Given the description of an element on the screen output the (x, y) to click on. 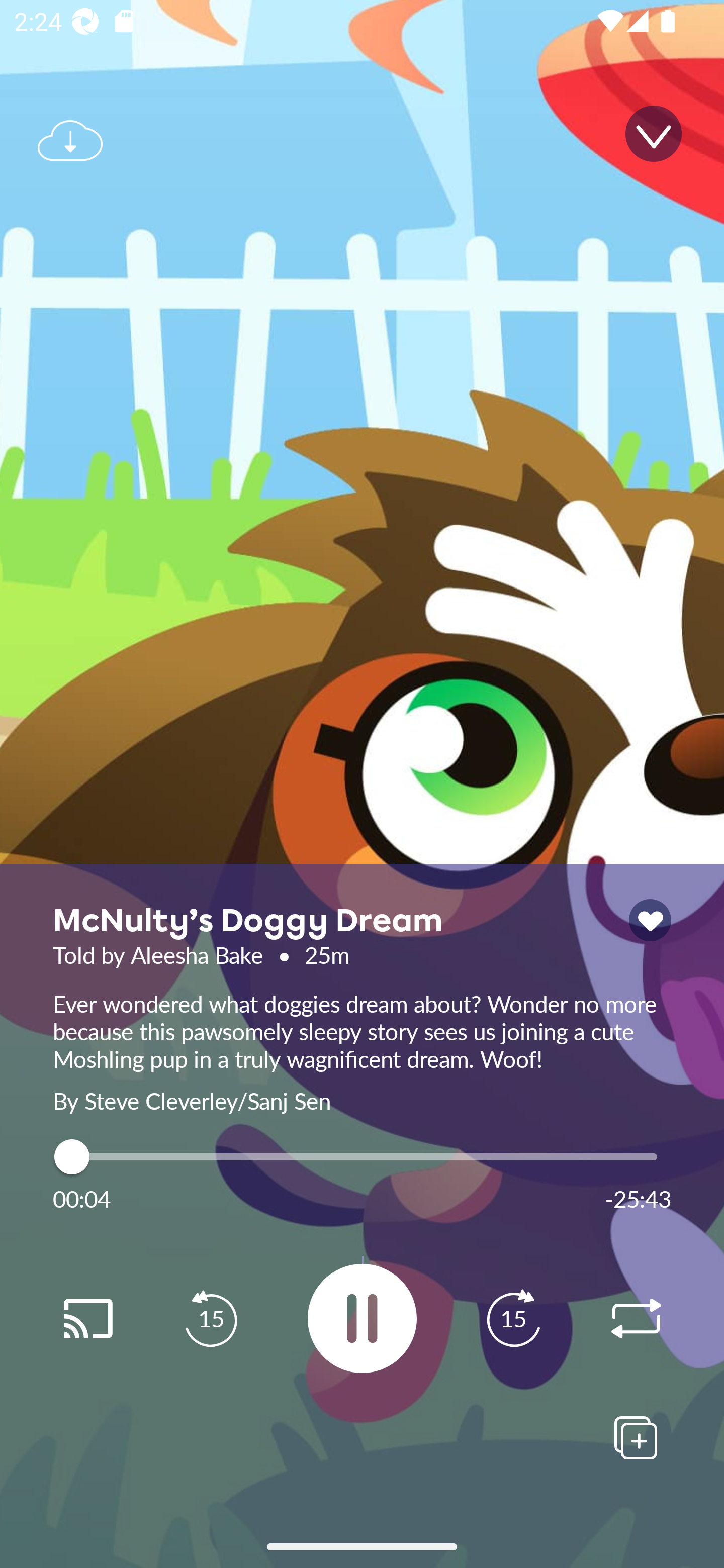
lock icon (650, 920)
0.0027177003 Pause (361, 1317)
Replay (87, 1318)
Replay 15 (210, 1318)
Replay 15 (513, 1318)
Replay (635, 1318)
Add To Playlists (635, 1437)
